Given the description of an element on the screen output the (x, y) to click on. 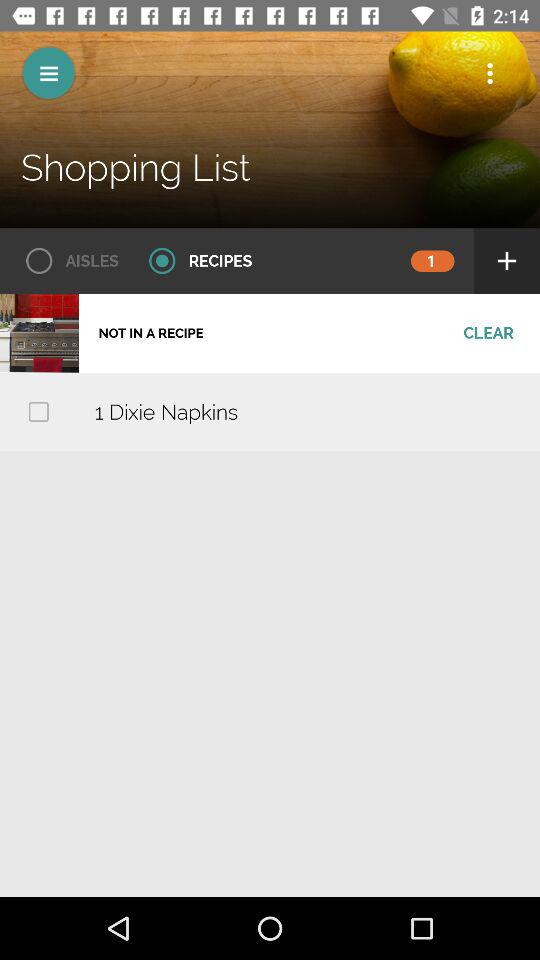
press the clear icon (488, 333)
